Given the description of an element on the screen output the (x, y) to click on. 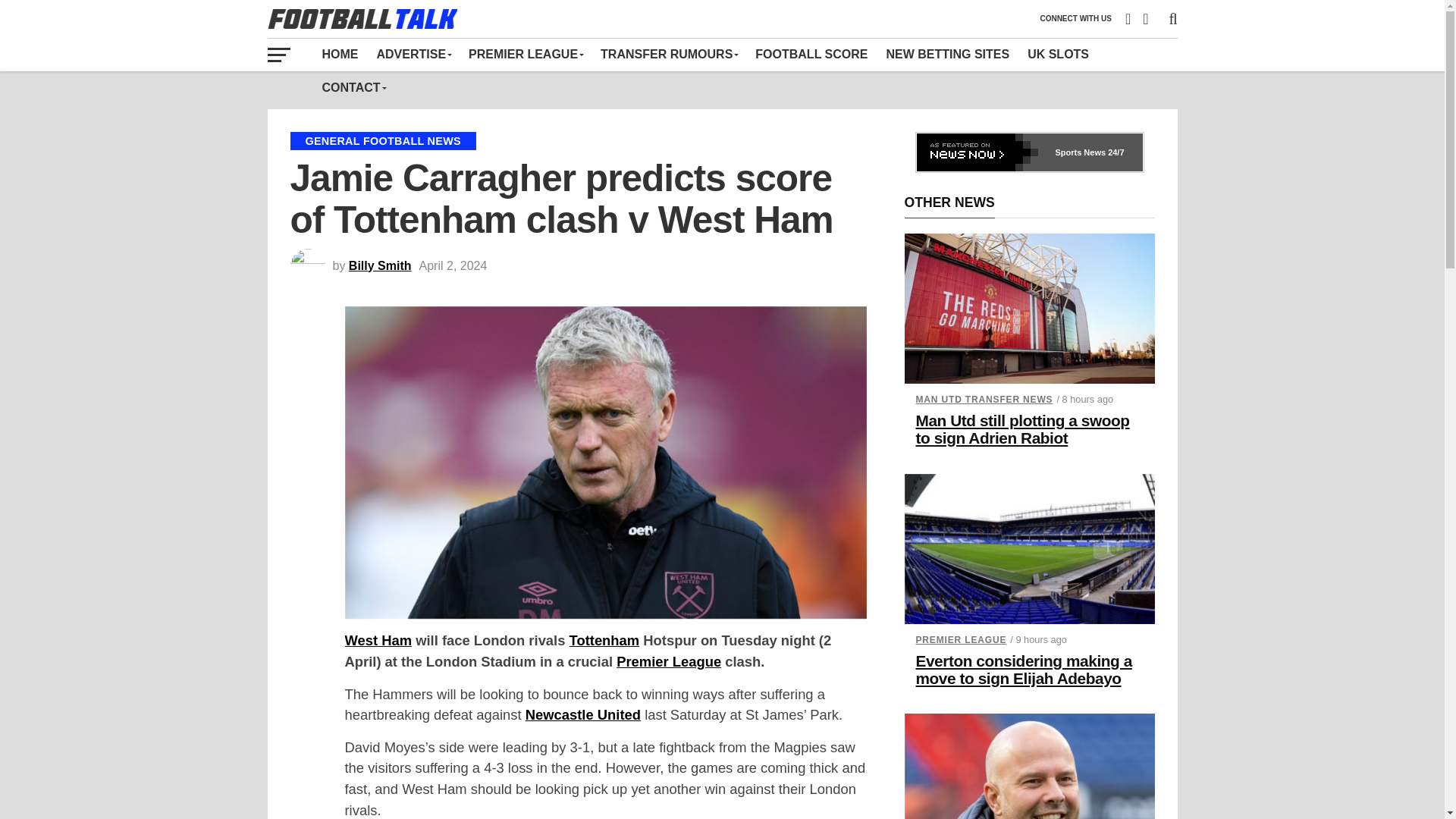
HOME (339, 54)
Premier League News (525, 54)
Advertise on Football-Talk (413, 54)
ADVERTISE (413, 54)
PREMIER LEAGUE (525, 54)
